Given the description of an element on the screen output the (x, y) to click on. 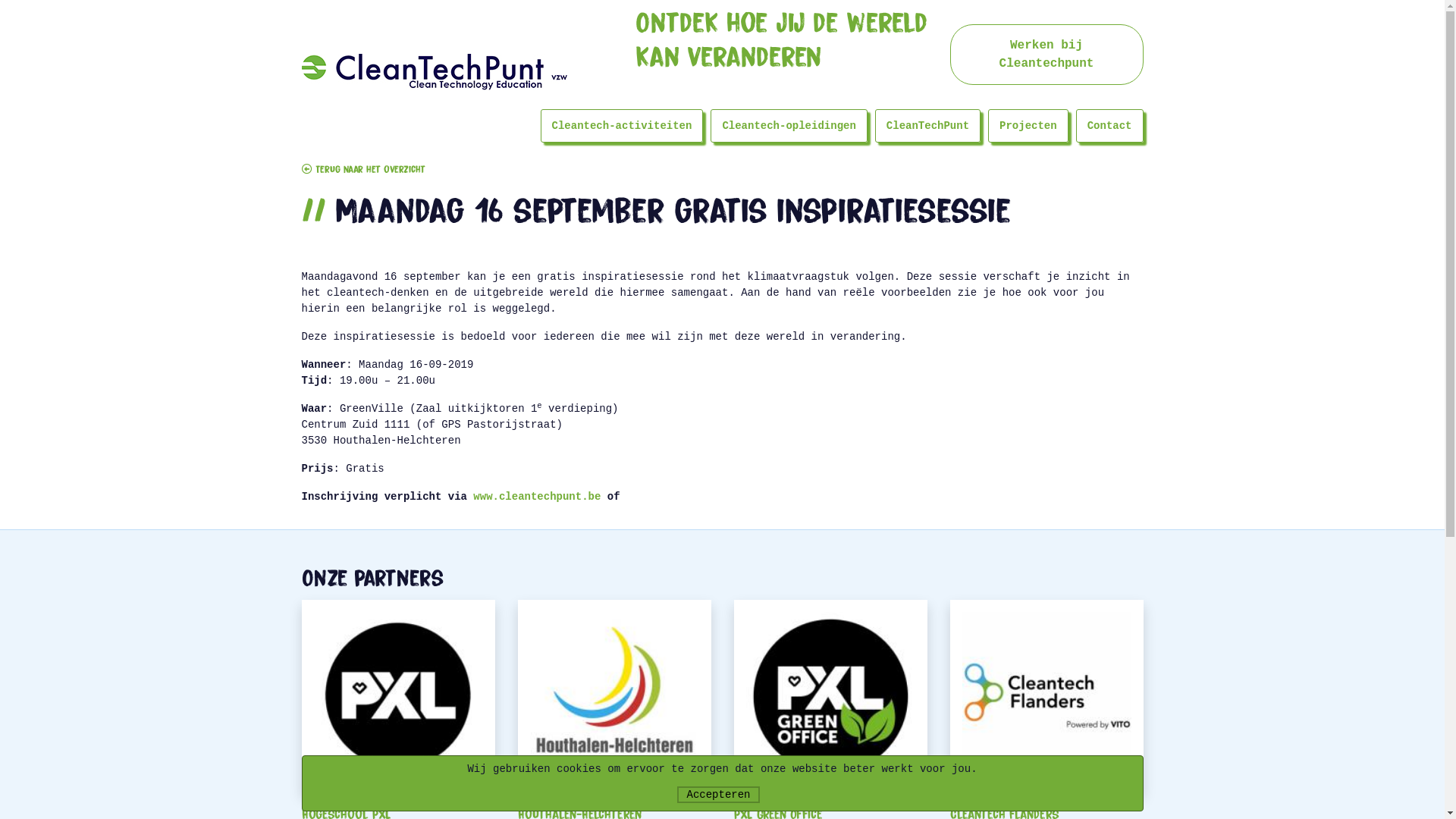
Afbeelding van WhatsApp op 2023-05-22 om 17.54.07.jpg Element type: hover (830, 696)
Accepteren Element type: text (718, 794)
Logo Cleantech Flanders powered by VITO kleur vierkant.jpg Element type: hover (1045, 696)
CleanTechPunt Element type: text (927, 125)
www.cleantechpunt.be Element type: text (536, 496)
Werken bij Cleantechpunt Element type: text (1045, 54)
PXL.jpg Element type: hover (398, 696)
Overslaan en naar de inhoud gaan Element type: text (0, 0)
Projecten Element type: text (1028, 125)
Cleantech-opleidingen Element type: text (788, 125)
Cleantech-activiteiten Element type: text (621, 125)
Terug naar het overzicht Element type: text (363, 170)
Contact Element type: text (1109, 125)
HH.jpg Element type: hover (613, 696)
